Given the description of an element on the screen output the (x, y) to click on. 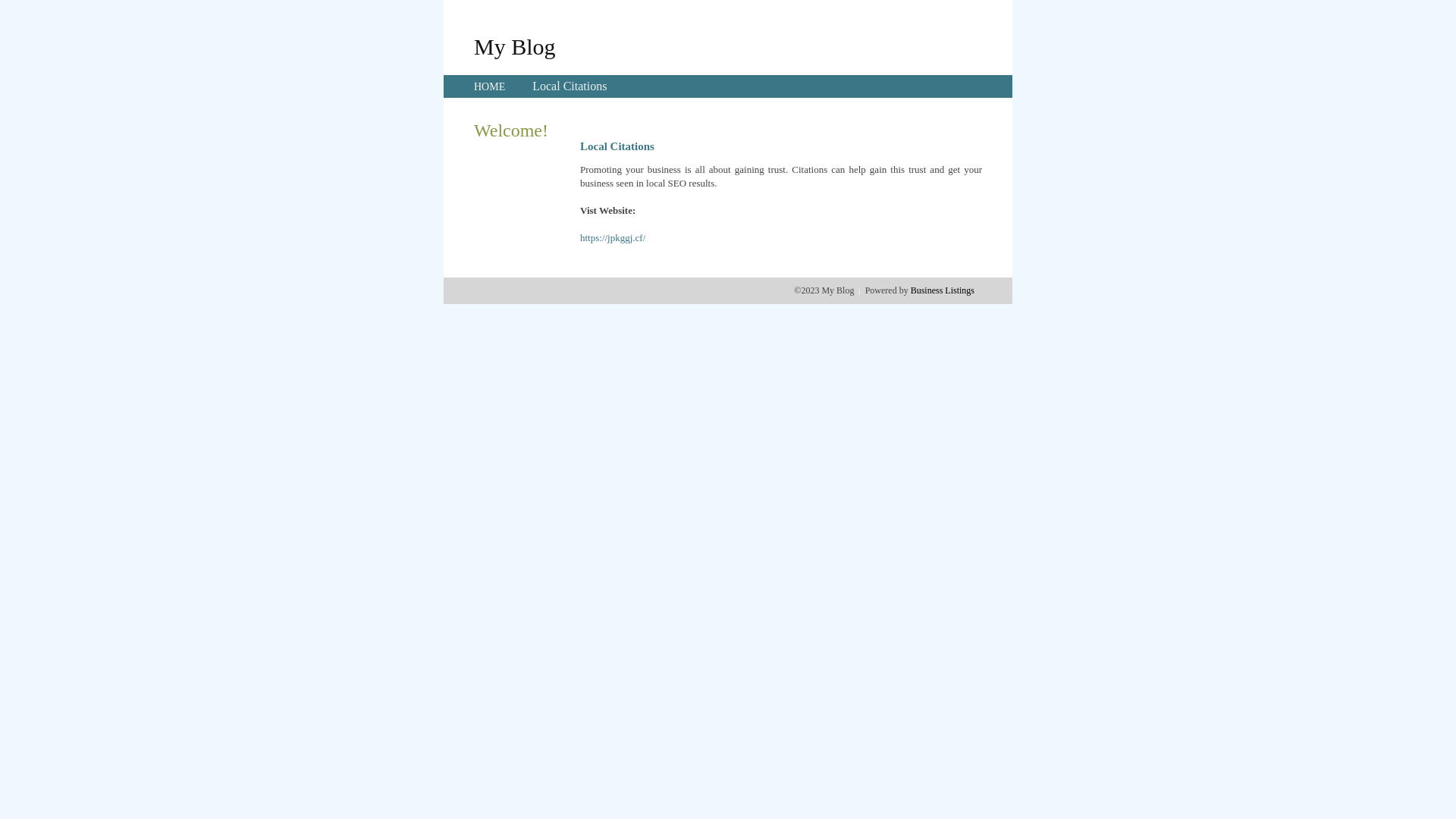
Business Listings Element type: text (942, 290)
HOME Element type: text (489, 86)
https://jpkggj.cf/ Element type: text (612, 237)
My Blog Element type: text (514, 46)
Local Citations Element type: text (569, 85)
